Given the description of an element on the screen output the (x, y) to click on. 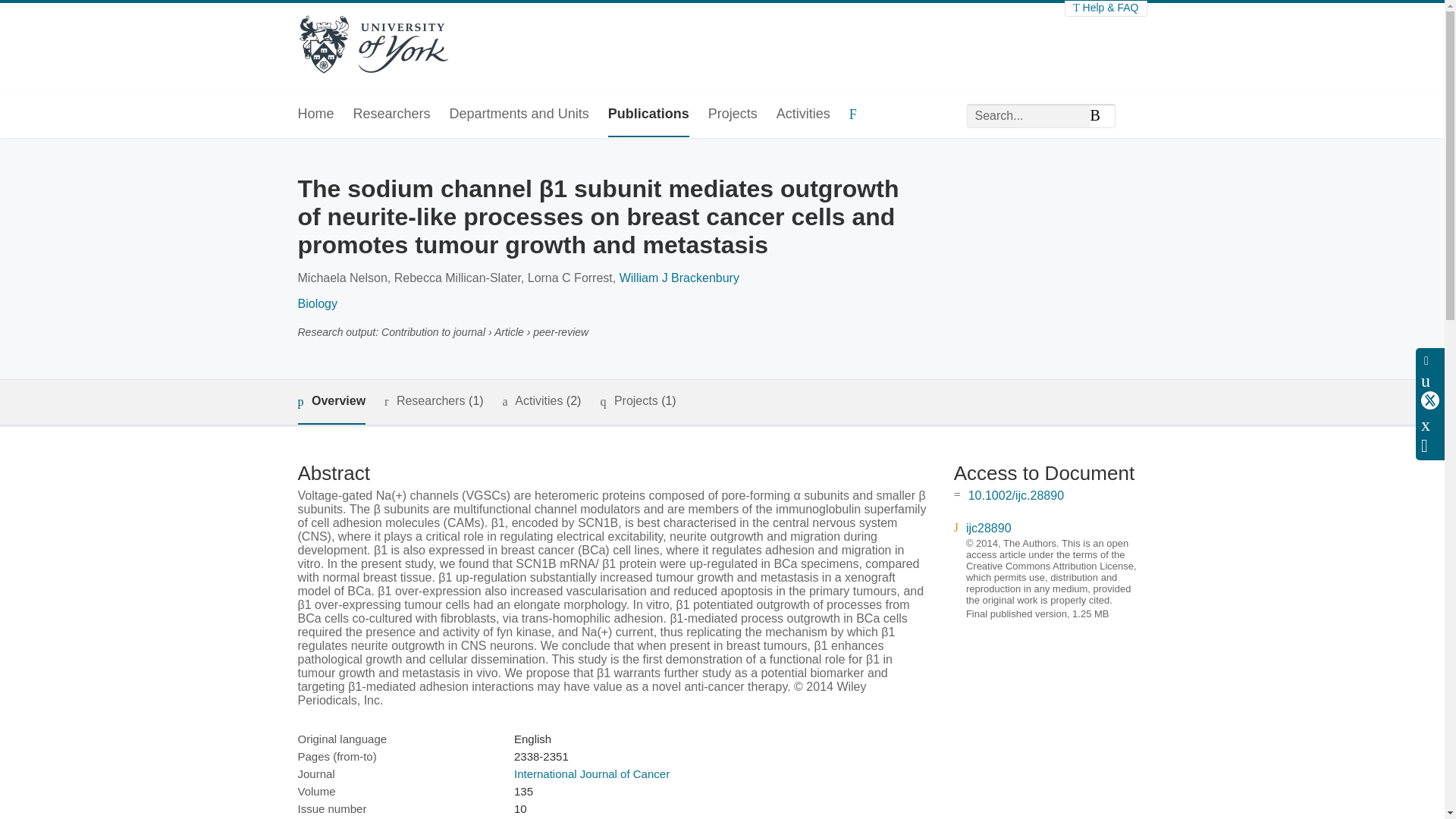
York Research Database Home (372, 45)
Projects (732, 114)
Departments and Units (519, 114)
Activities (802, 114)
Researchers (391, 114)
Overview (331, 402)
Publications (648, 114)
ijc28890 (988, 527)
International Journal of Cancer (591, 773)
William J Brackenbury (679, 277)
Biology (316, 303)
